Given the description of an element on the screen output the (x, y) to click on. 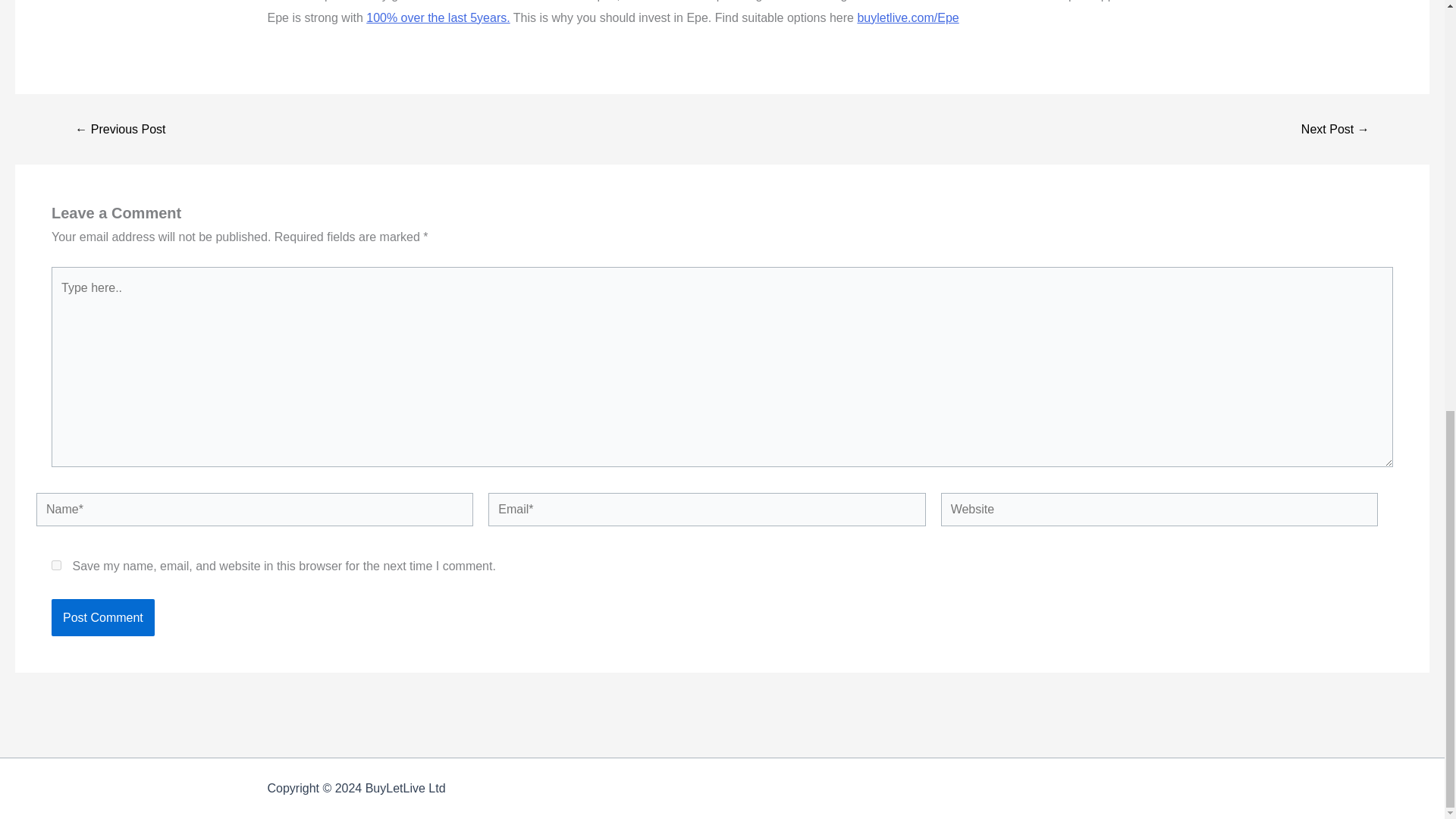
Post Comment (102, 617)
yes (55, 565)
Post Comment (102, 617)
